Given the description of an element on the screen output the (x, y) to click on. 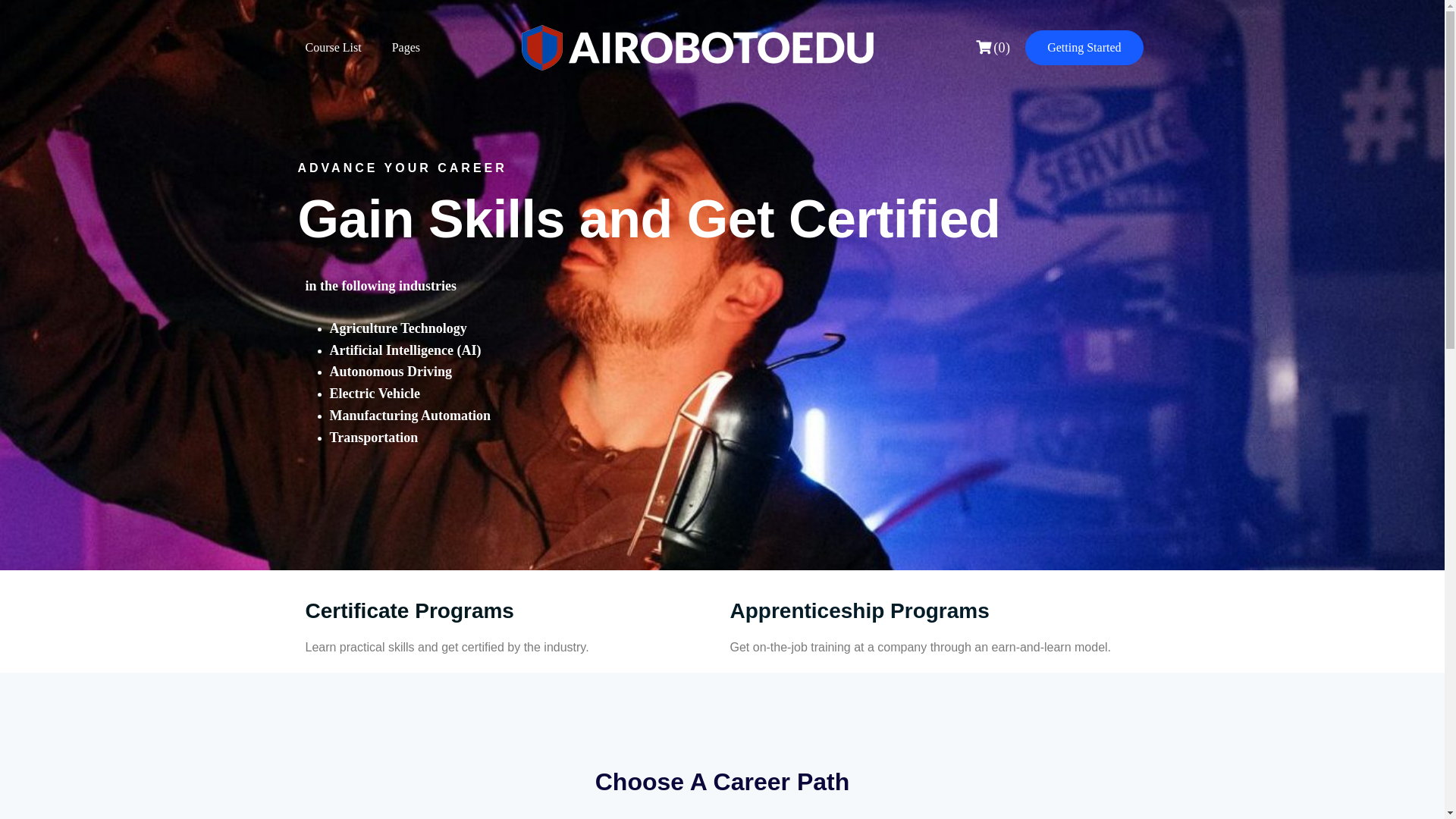
Course List (333, 47)
Pages (405, 47)
Getting Started (1083, 47)
